Given the description of an element on the screen output the (x, y) to click on. 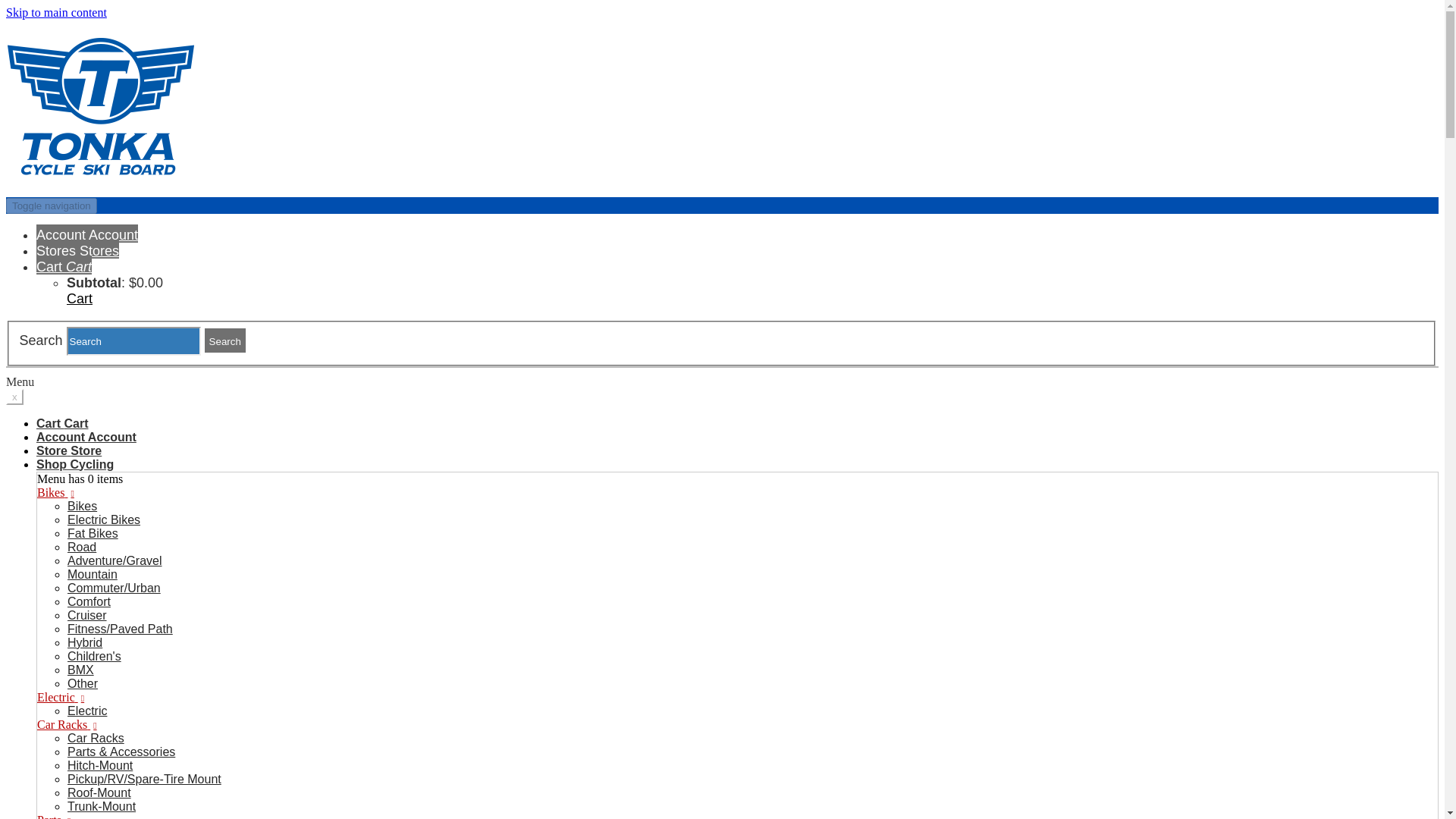
Mountain (91, 574)
Car Racks (94, 738)
BMX (80, 669)
Shop Cycling (74, 467)
Other (81, 683)
Hybrid (83, 642)
Cart (61, 426)
Bikes (81, 505)
Fat Bikes (91, 533)
Account Account (87, 233)
Store (68, 454)
Bikes (55, 492)
Cruiser (86, 615)
Cart (63, 265)
Trunk-Mount (100, 806)
